Given the description of an element on the screen output the (x, y) to click on. 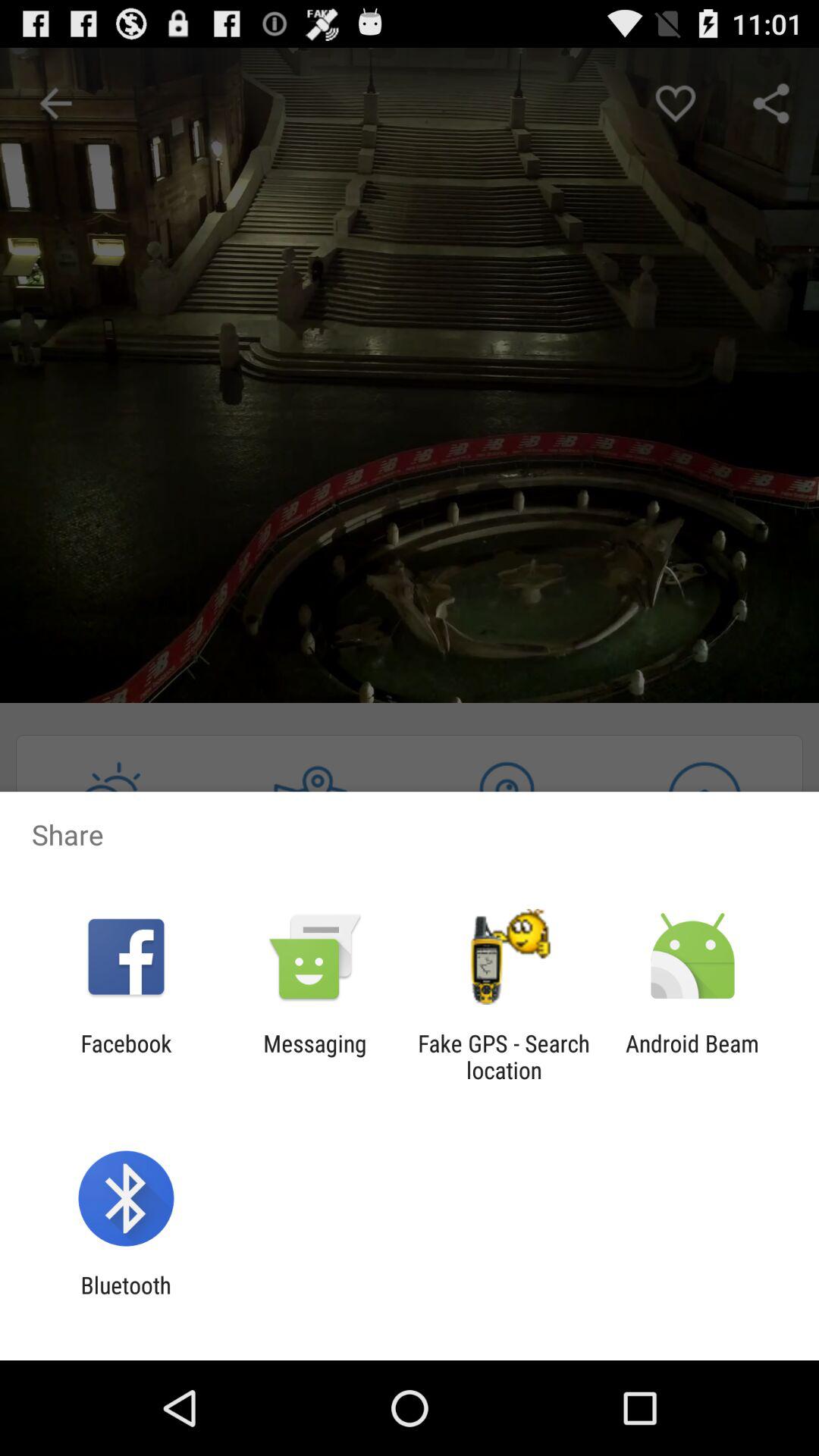
jump until facebook (125, 1056)
